Given the description of an element on the screen output the (x, y) to click on. 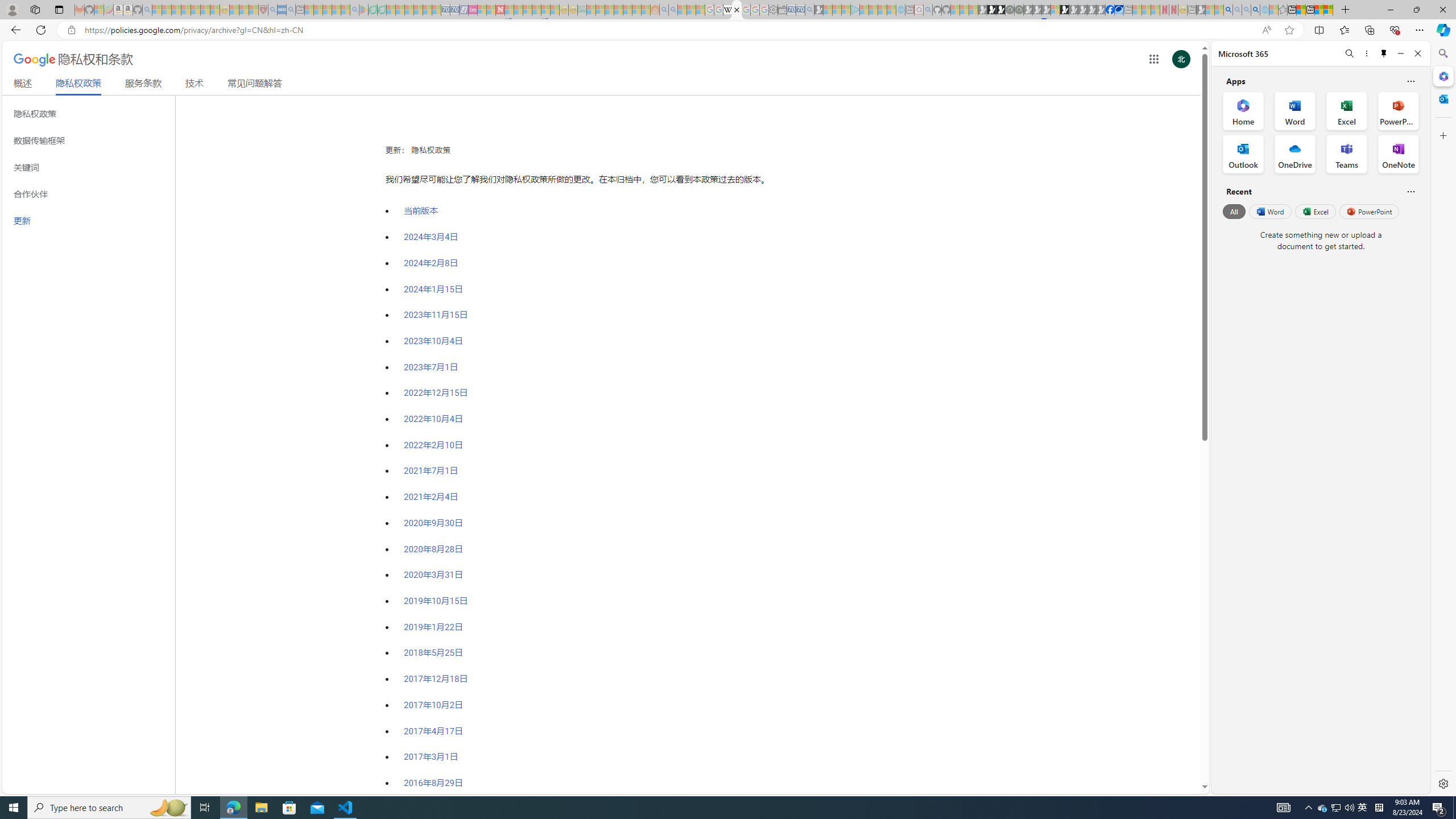
google - Search - Sleeping (354, 9)
Close Microsoft 365 pane (1442, 76)
Utah sues federal government - Search - Sleeping (672, 9)
DITOGAMES AG Imprint - Sleeping (581, 9)
Aberdeen, Hong Kong SAR weather forecast | Microsoft Weather (1300, 9)
Is this helpful? (1410, 191)
Trusted Community Engagement and Contributions | Guidelines (508, 9)
